Given the description of an element on the screen output the (x, y) to click on. 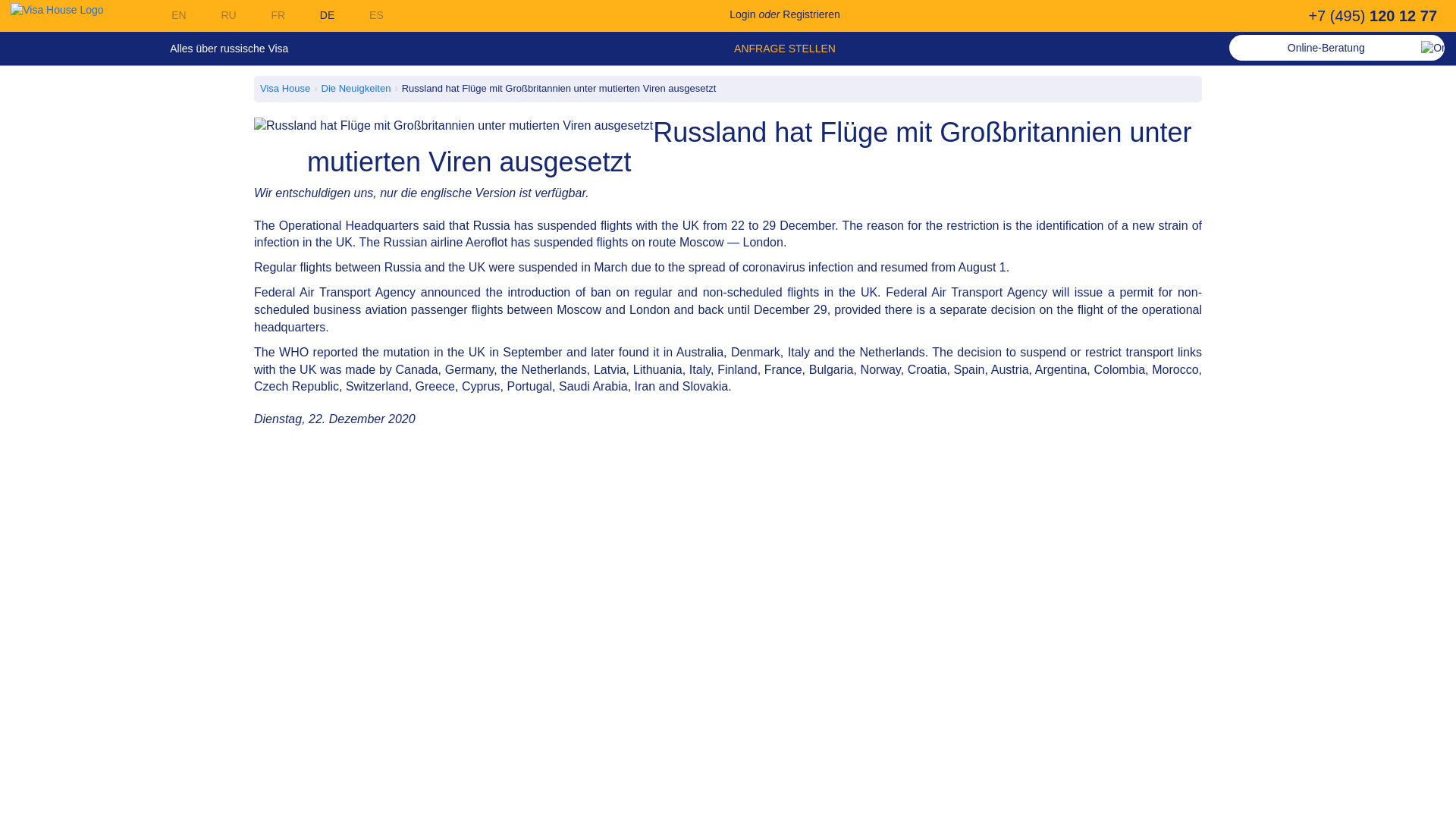
Registrieren (811, 14)
Login (742, 14)
ES (364, 15)
FR (266, 15)
EN (166, 15)
ANFRAGE STELLEN (784, 48)
DE (314, 15)
RU (215, 15)
